Given the description of an element on the screen output the (x, y) to click on. 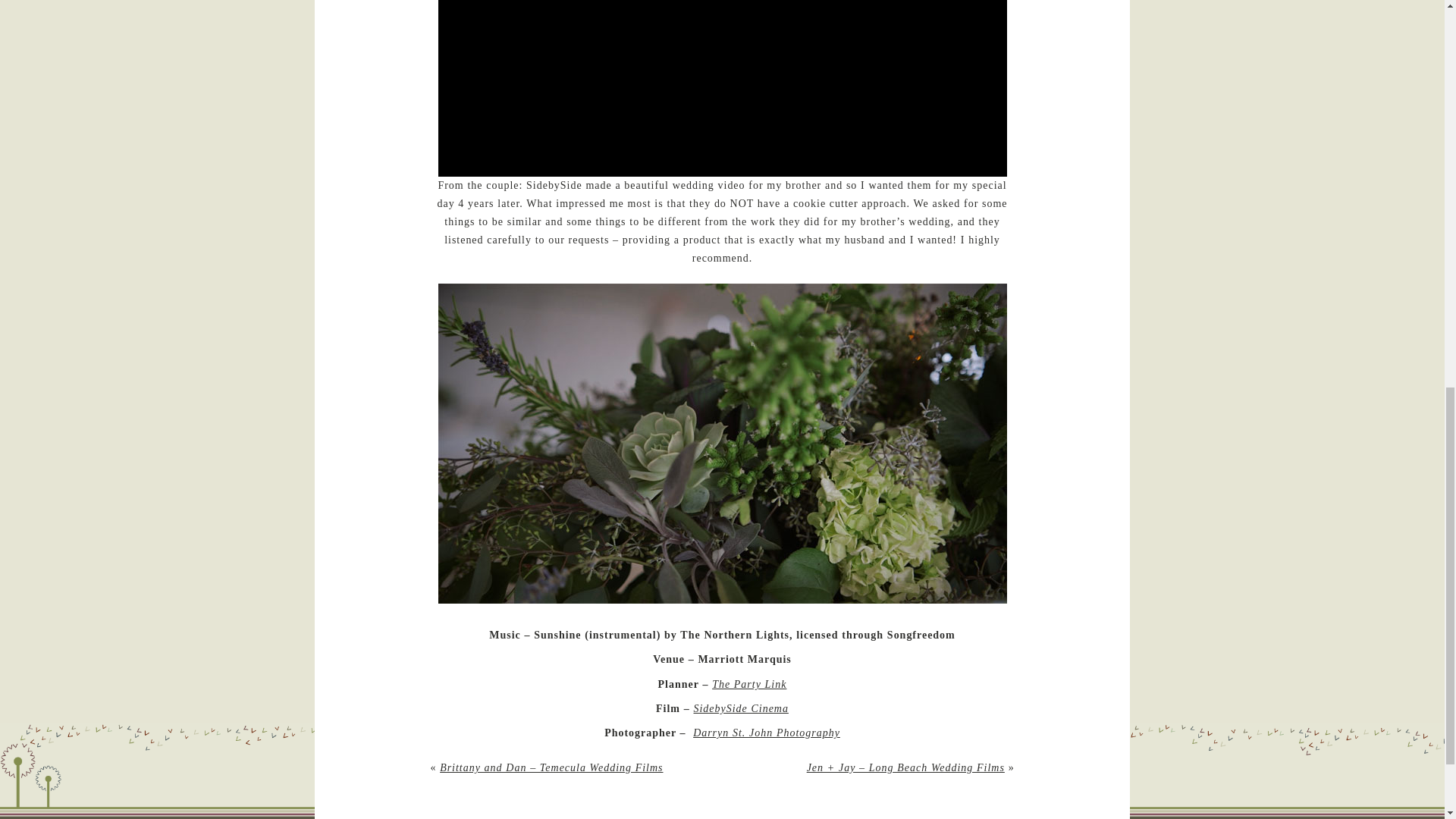
SidebySide Cinema (740, 708)
Darryn St. John Photography (766, 732)
The Party Link (748, 684)
